Given the description of an element on the screen output the (x, y) to click on. 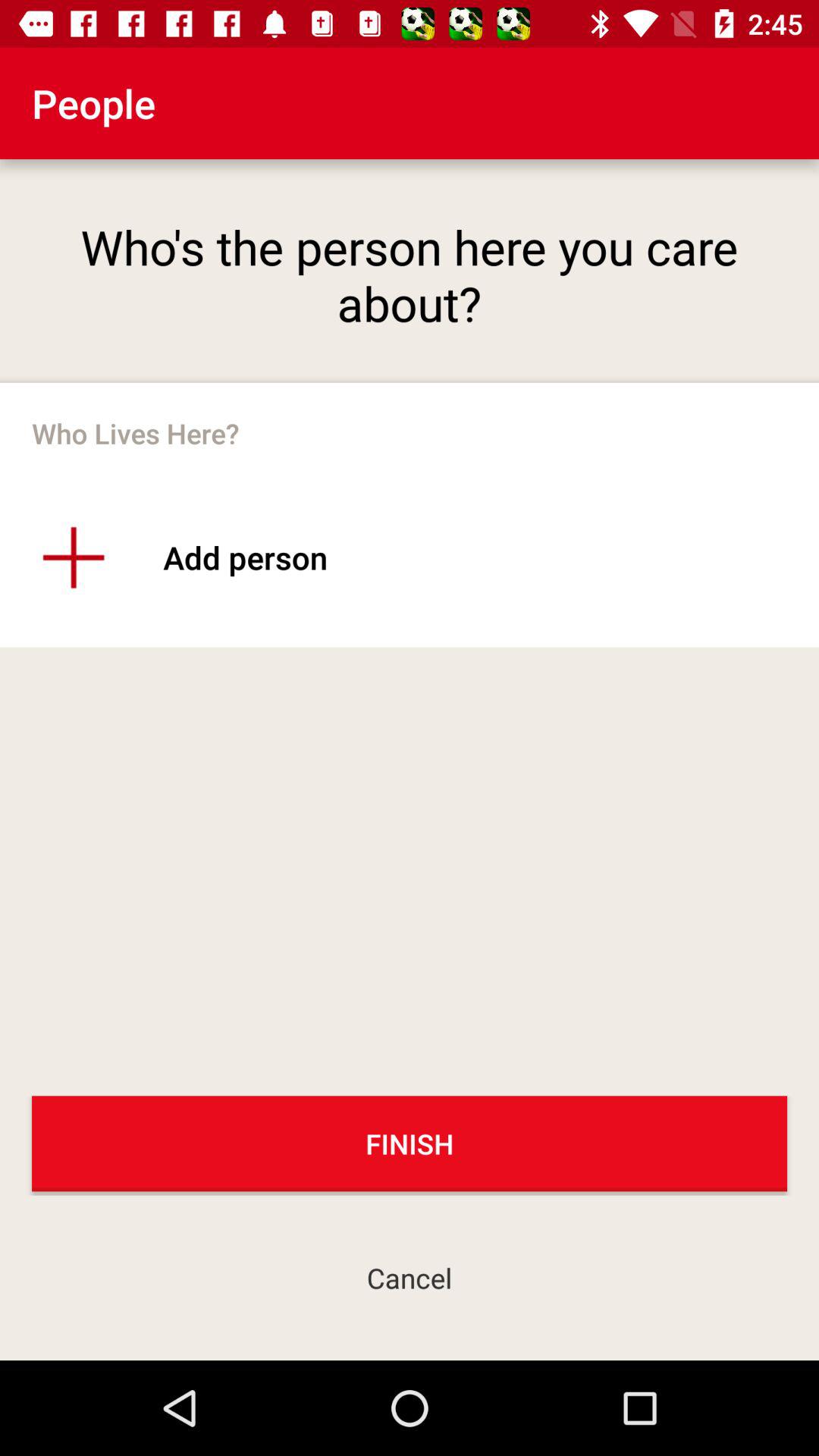
jump to the cancel (409, 1277)
